Given the description of an element on the screen output the (x, y) to click on. 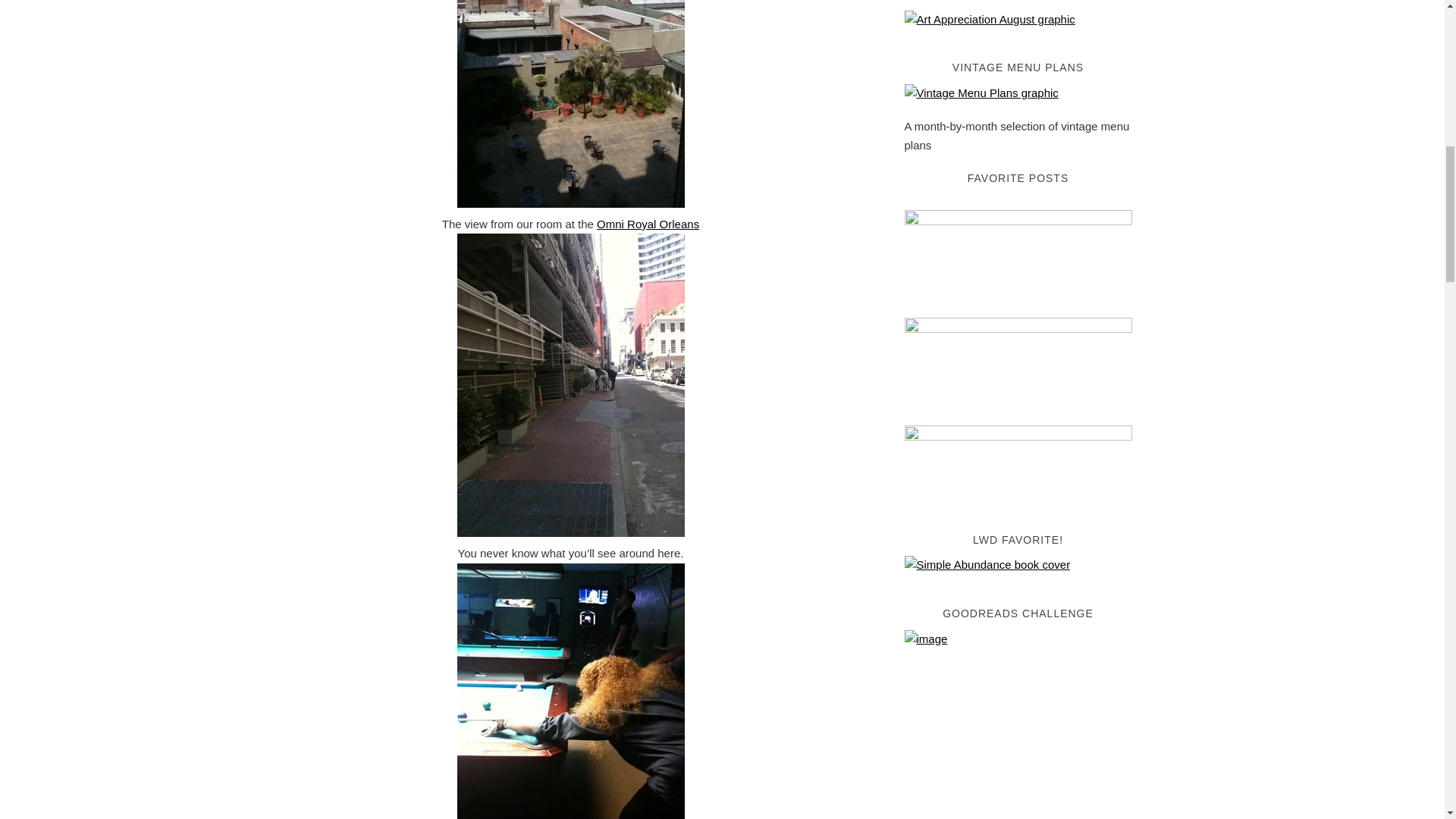
Art Appreciation August 2024 (989, 19)
Vintage Menu Plans (981, 92)
Omni Royal Orleans (647, 223)
Goodreads Challenge  (1017, 724)
